Given the description of an element on the screen output the (x, y) to click on. 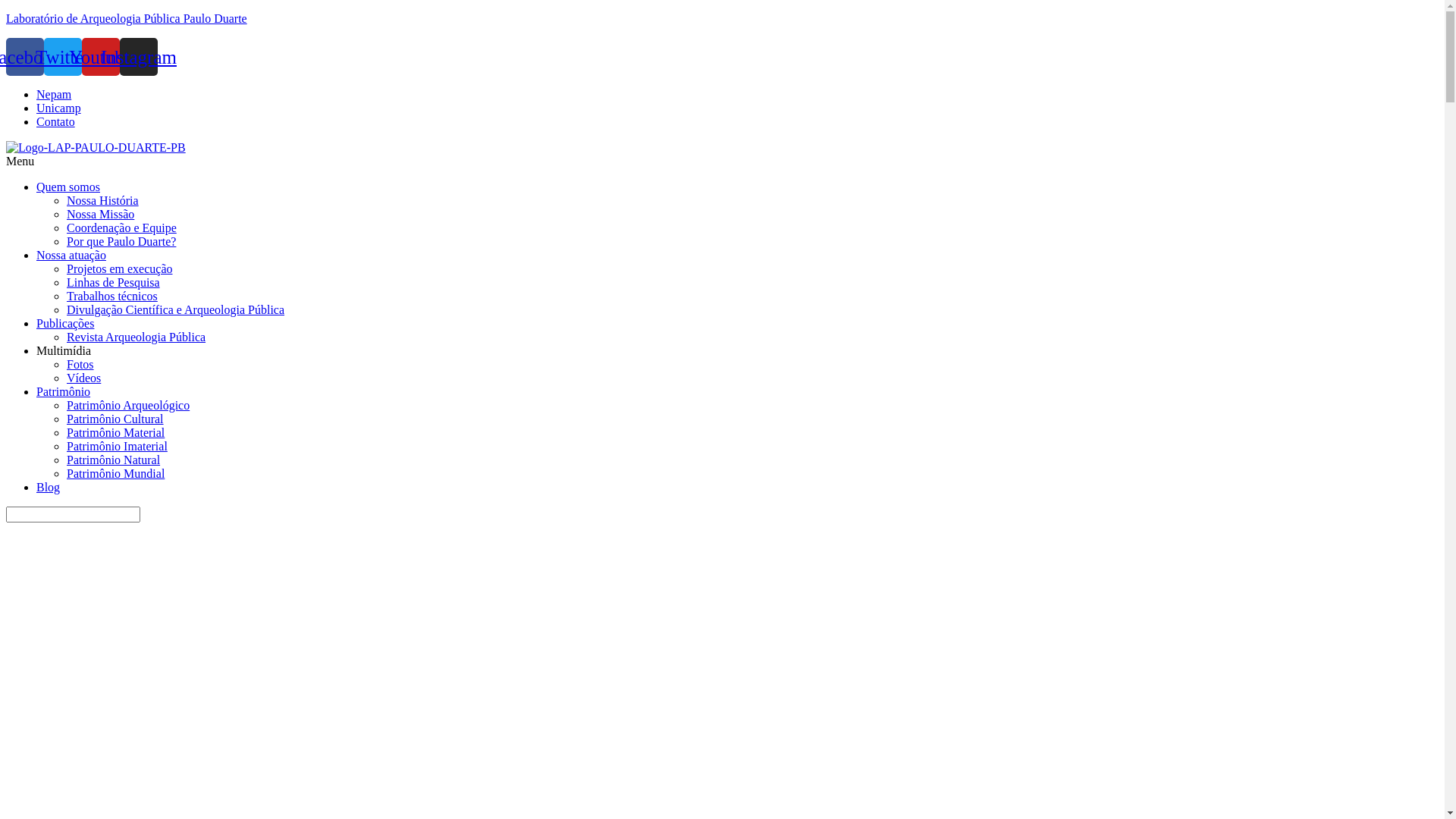
Nepam Element type: text (53, 93)
Twitter Element type: text (62, 56)
Facebook Element type: text (24, 56)
Linhas de Pesquisa Element type: text (113, 282)
Blog Element type: text (47, 486)
Quem somos Element type: text (68, 186)
Unicamp Element type: text (58, 107)
Fotos Element type: text (80, 363)
Youtube Element type: text (100, 56)
Search Element type: hover (73, 514)
Por que Paulo Duarte? Element type: text (120, 241)
Contato Element type: text (55, 121)
Instagram Element type: text (138, 56)
